Given the description of an element on the screen output the (x, y) to click on. 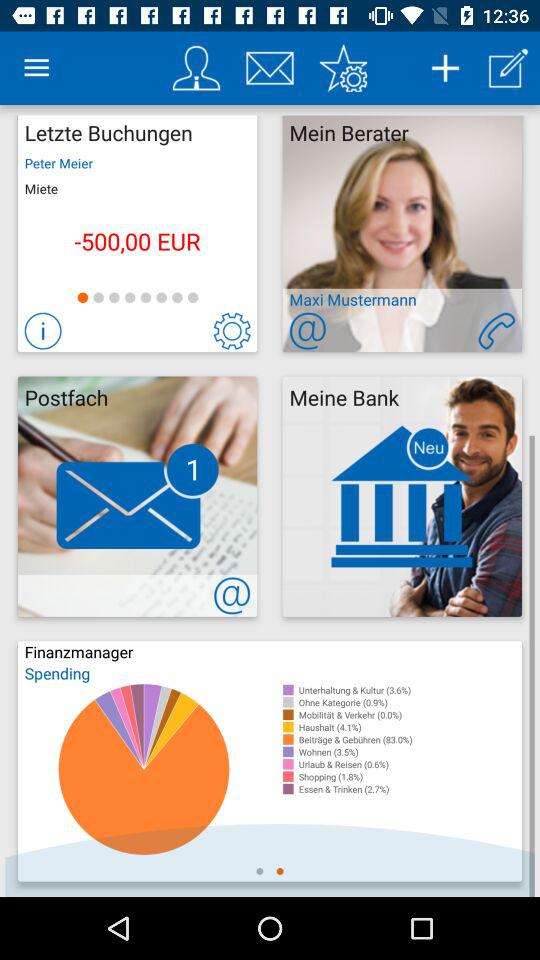
more info about this selection (42, 330)
